Given the description of an element on the screen output the (x, y) to click on. 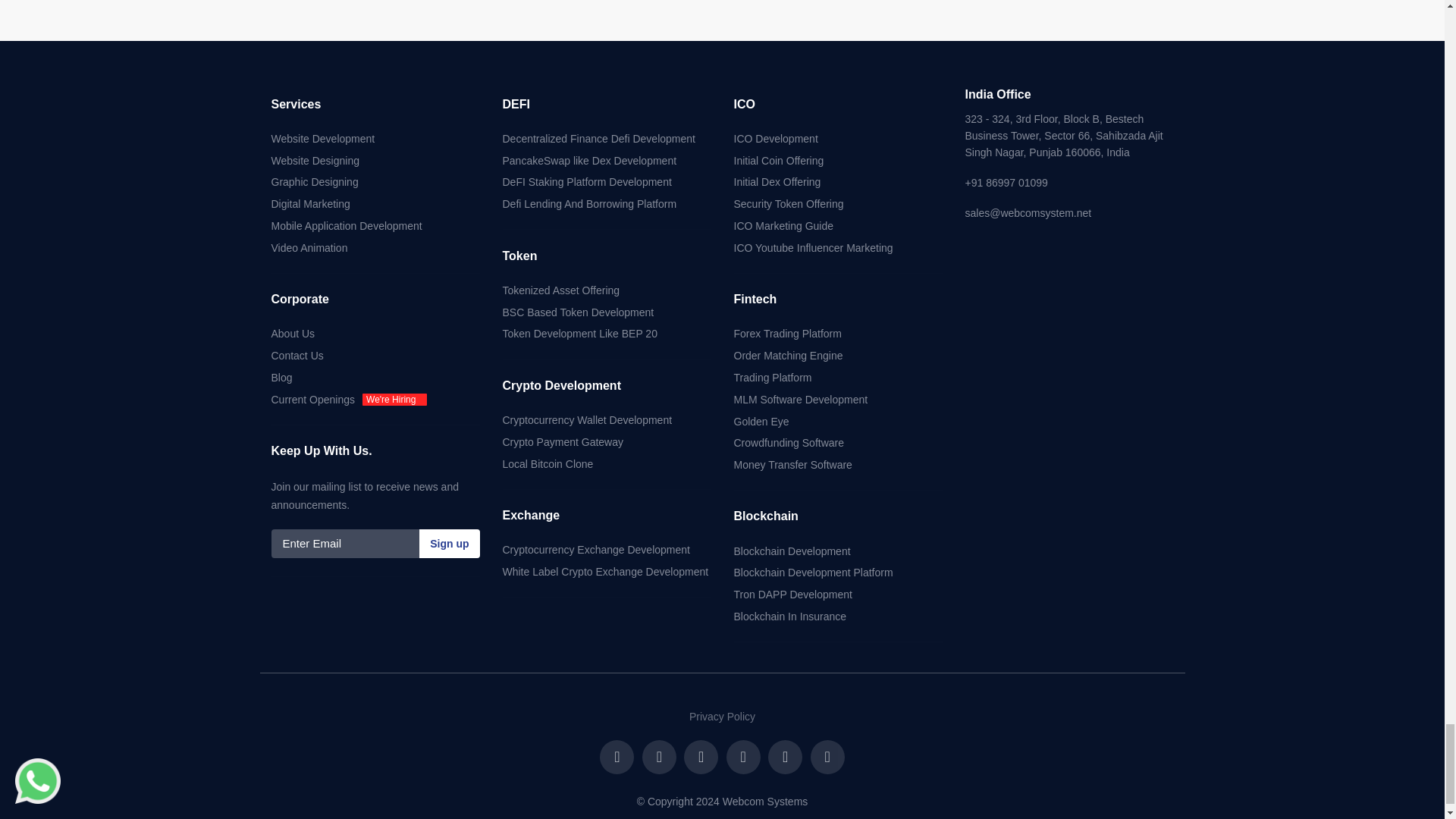
Sign up (449, 543)
